Given the description of an element on the screen output the (x, y) to click on. 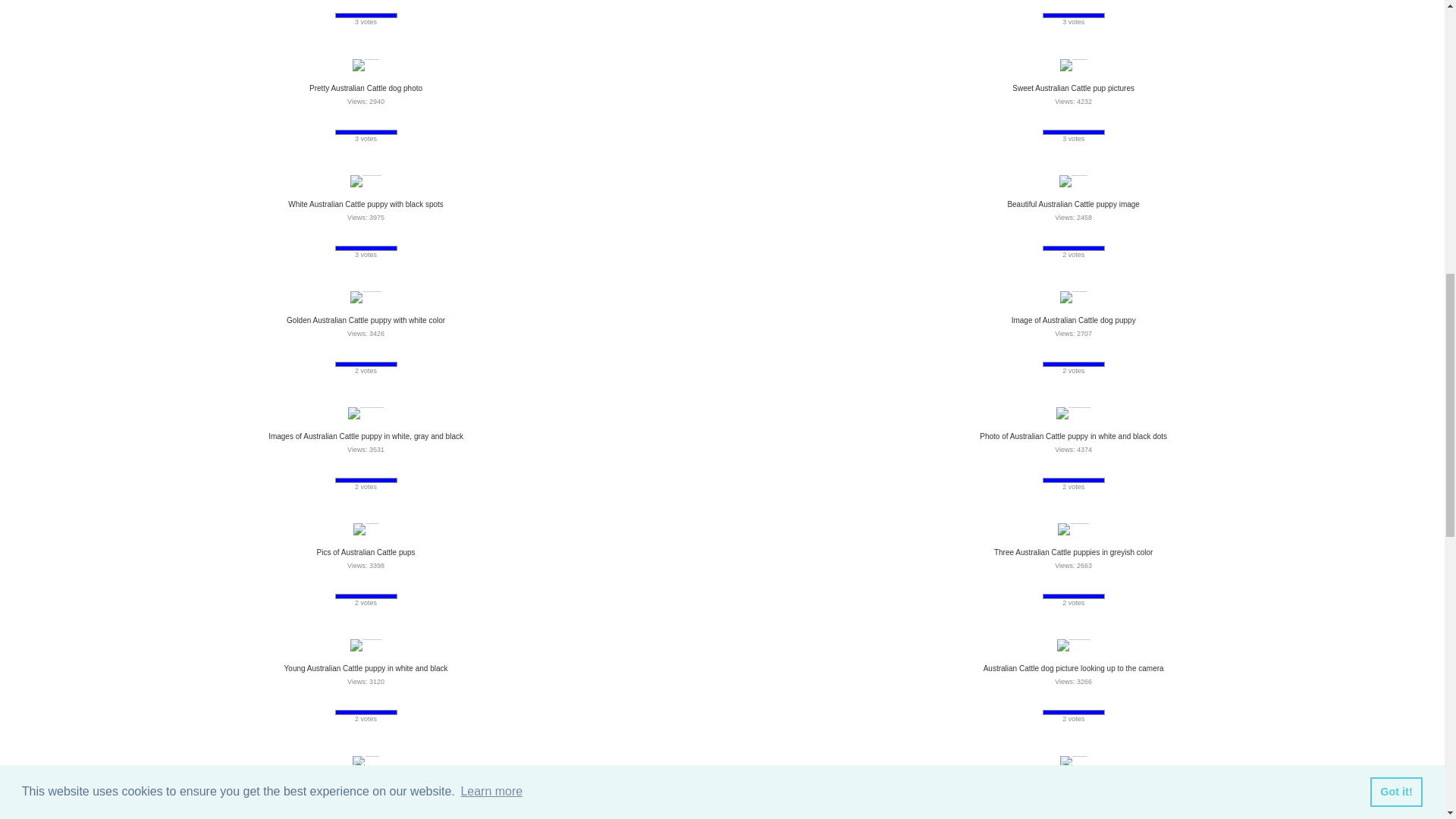
Click a star to rate this item! (378, 5)
Click a star to rate this item! (1086, 5)
Click a star to rate this item! (1097, 5)
Click a star to rate this item! (365, 120)
Click a star to rate this item! (353, 5)
Click a star to rate this item! (1061, 5)
Click a star to rate this item! (341, 120)
Click a star to rate this item! (390, 120)
Click a star to rate this item! (353, 120)
Click a star to rate this item! (378, 120)
Click a star to rate this item! (365, 5)
Click a star to rate this item! (1049, 5)
Click a star to rate this item! (390, 5)
Click a star to rate this item! (1073, 5)
Click a star to rate this item! (341, 5)
